Given the description of an element on the screen output the (x, y) to click on. 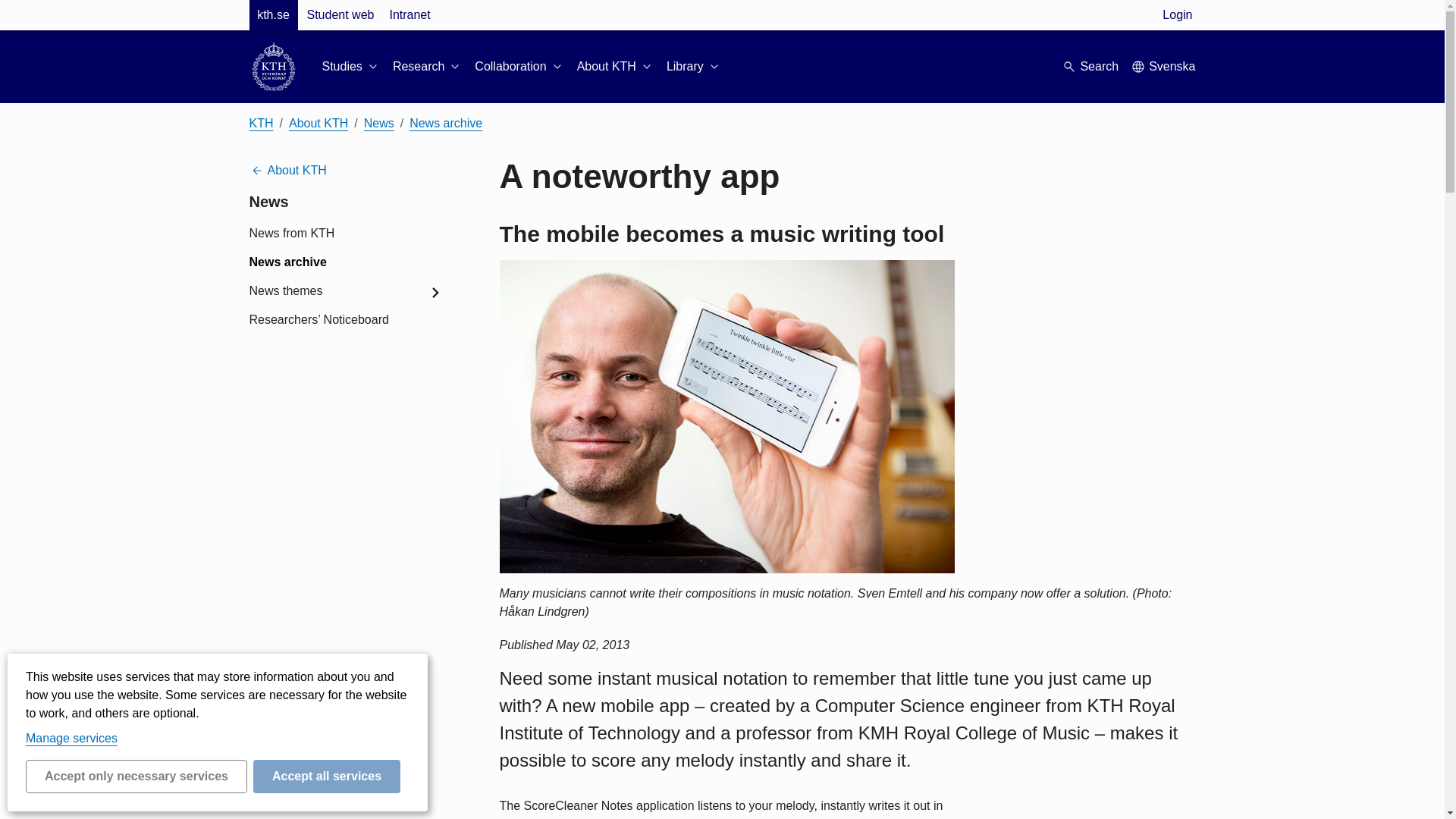
Accept all services (326, 776)
Studies (350, 66)
Manage services (71, 738)
Student web (339, 15)
Collaboration (519, 66)
Intranet (408, 15)
Login (1176, 15)
kth.se (272, 15)
Library (694, 66)
About KTH (614, 66)
Accept only necessary services (136, 776)
Research (428, 66)
